Given the description of an element on the screen output the (x, y) to click on. 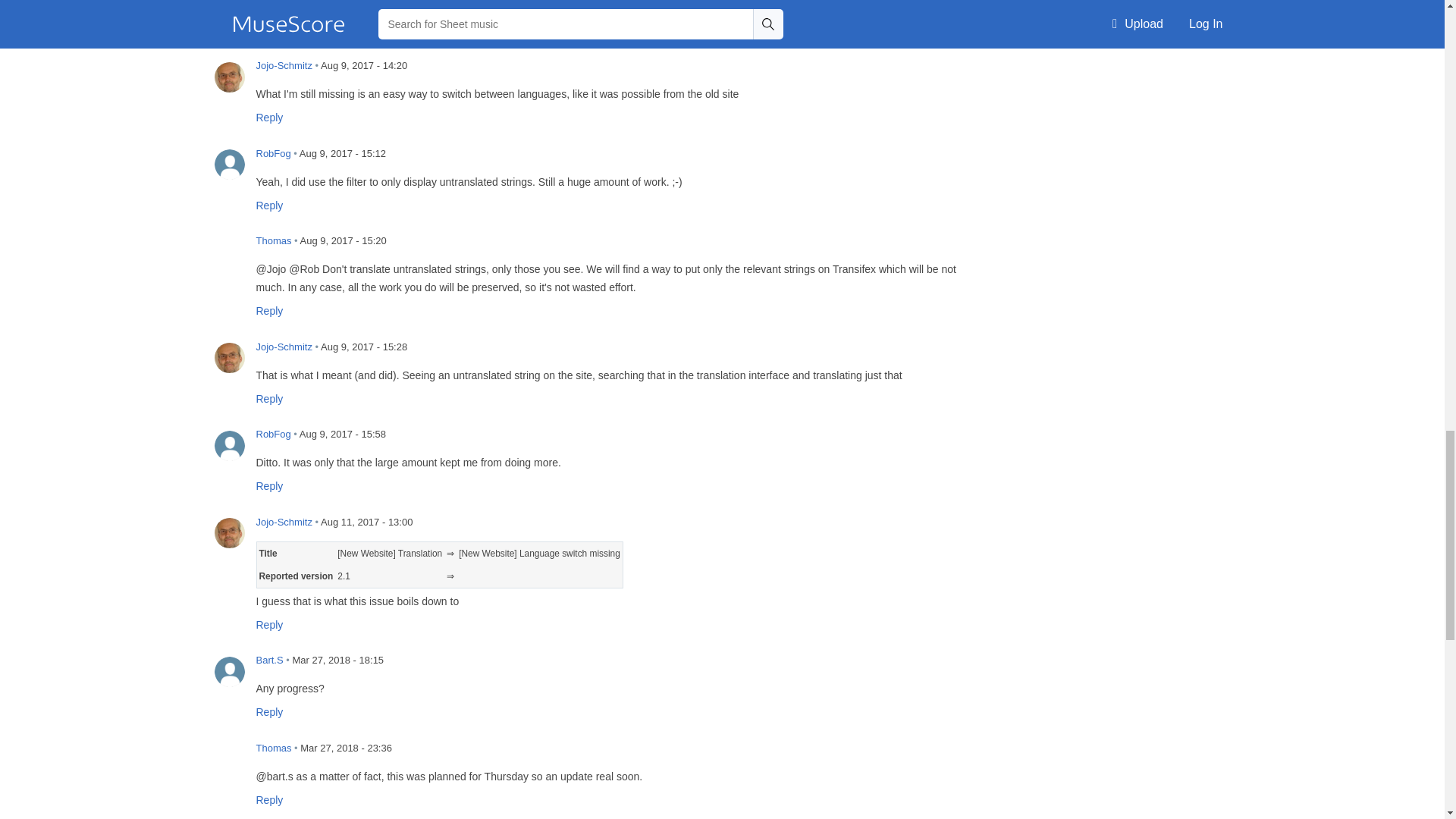
Thomas (229, 251)
RobFog (229, 164)
Jojo-Schmitz (229, 77)
